Given the description of an element on the screen output the (x, y) to click on. 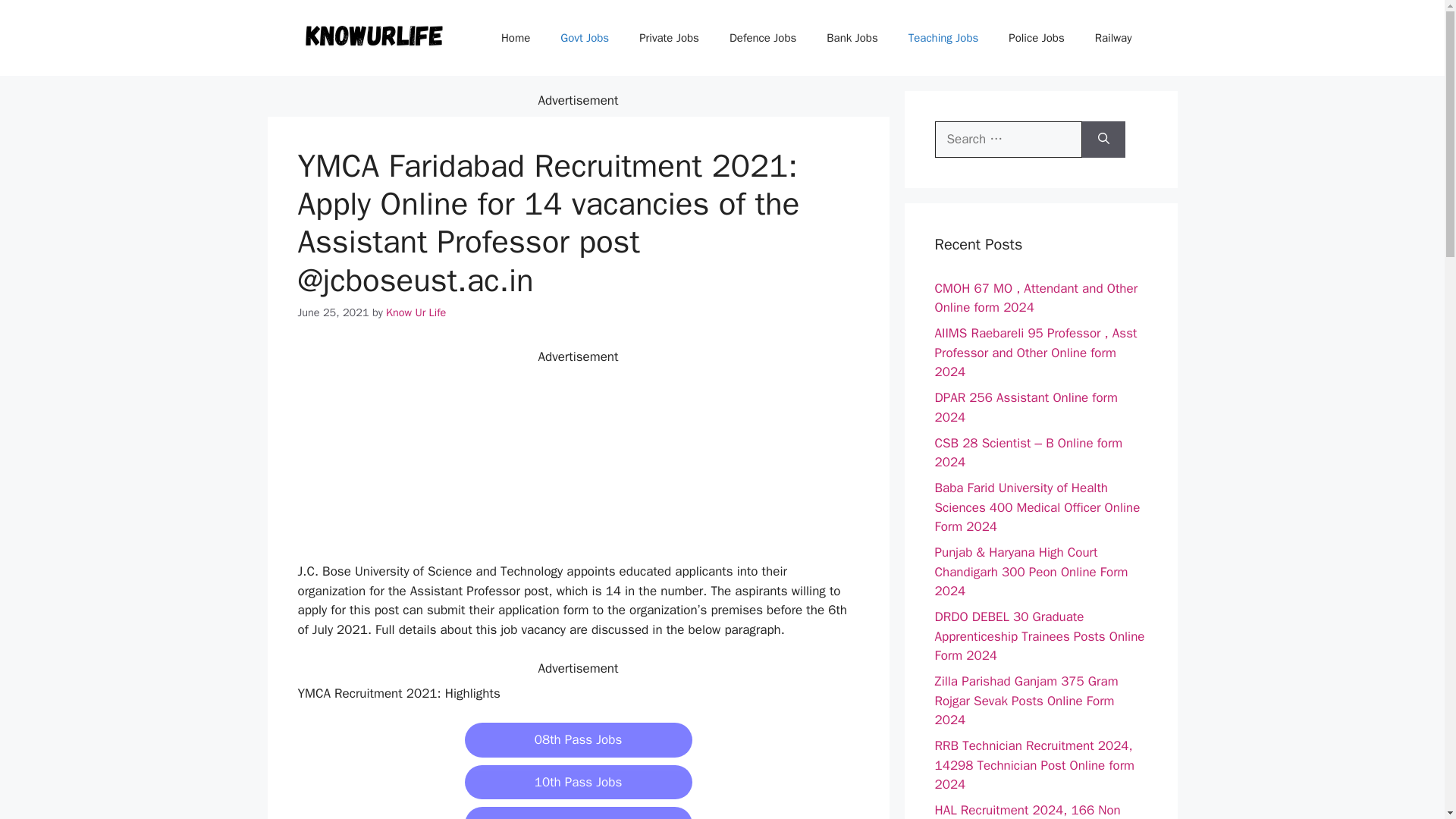
Police Jobs (1035, 37)
Home (515, 37)
CMOH 67 MO , Attendant and Other Online form 2024 (1035, 298)
DPAR 256 Assistant Online form 2024 (1025, 407)
08th Pass Jobs (577, 739)
08th Pass Jobs (577, 739)
10th Pass Jobs (577, 782)
Govt Jobs (584, 37)
Defence Jobs (762, 37)
